Given the description of an element on the screen output the (x, y) to click on. 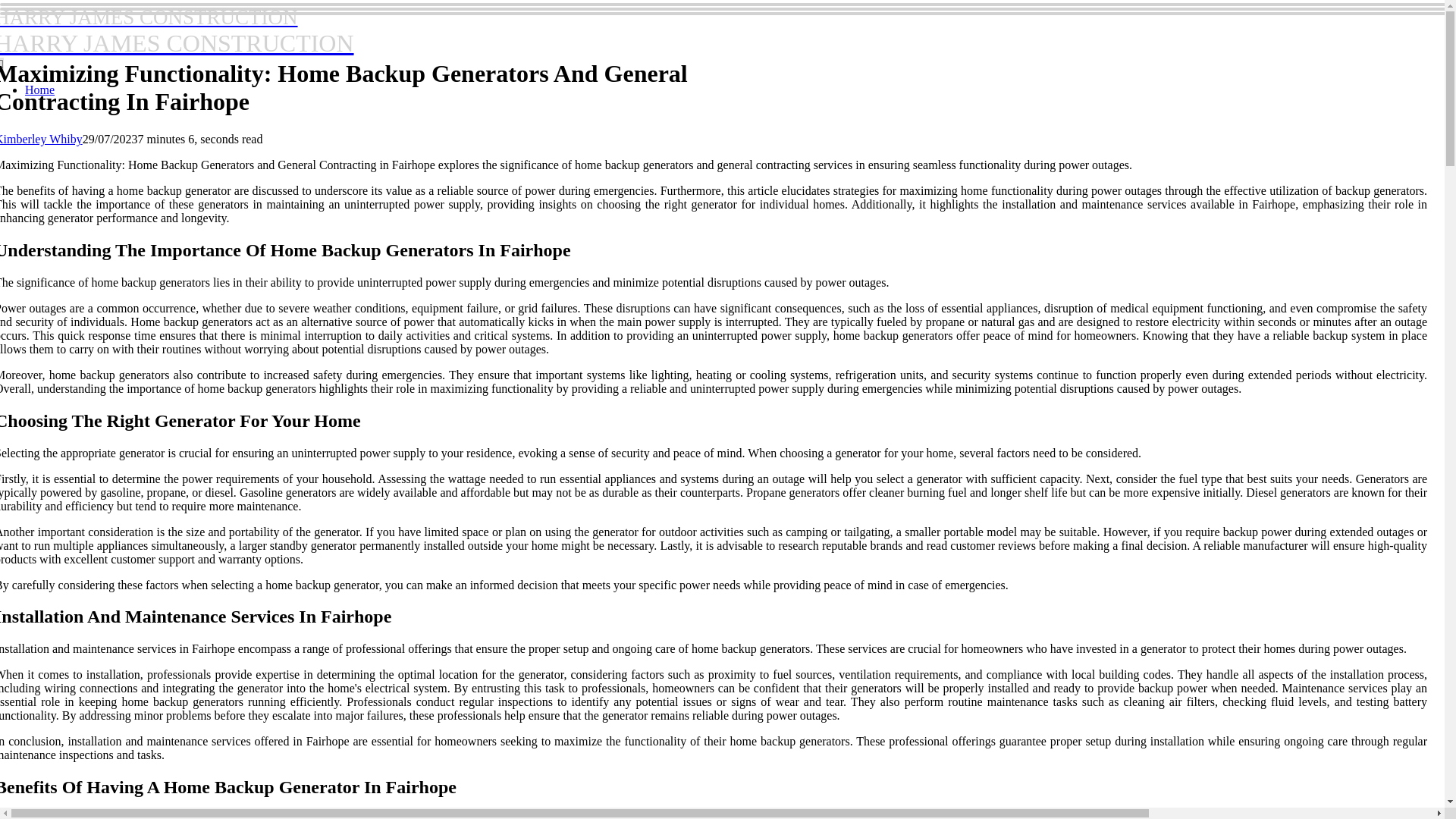
home backup generator installation in Fairhope (256, 816)
Kimberley Whiby (41, 138)
Home (176, 31)
Posts by Kimberley Whiby (39, 89)
